Given the description of an element on the screen output the (x, y) to click on. 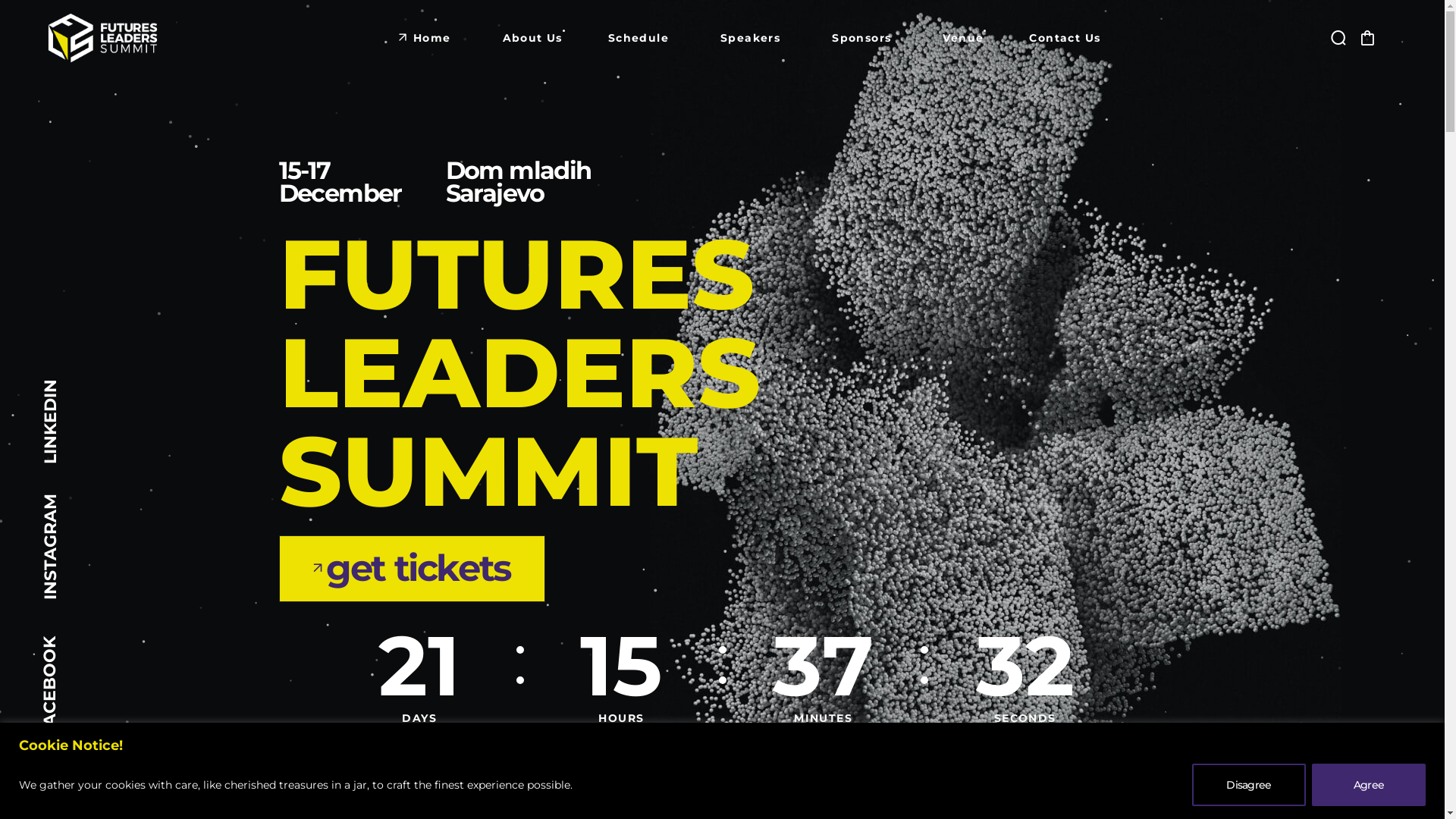
Schedule Element type: text (638, 37)
Sponsors Element type: text (861, 37)
Agree Element type: text (1368, 783)
Disagree Element type: text (1248, 783)
Venue Element type: text (959, 37)
Click to open Shopping Cart Element type: hover (1367, 37)
Speakers Element type: text (750, 37)
Contact Us Element type: text (1064, 37)
About Us Element type: text (529, 37)
Home Element type: text (432, 37)
get tickets Element type: text (411, 568)
